Given the description of an element on the screen output the (x, y) to click on. 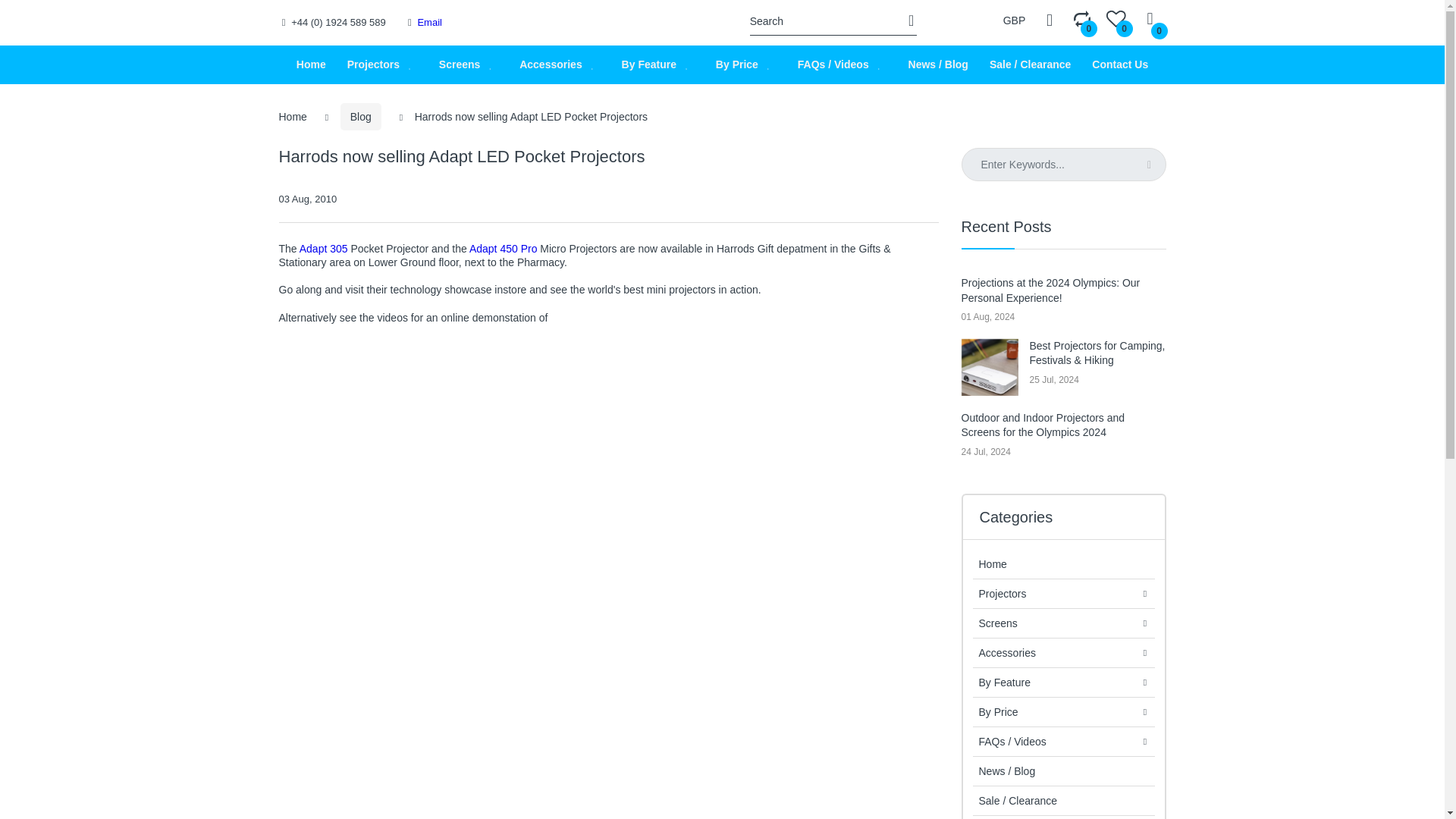
Projectors (372, 64)
Adapt 450 Pro (504, 248)
Email (429, 21)
Adapt 305 (323, 248)
Personal Projector  (606, 22)
Screens (459, 64)
My Account (1049, 20)
0 (1115, 20)
